Given the description of an element on the screen output the (x, y) to click on. 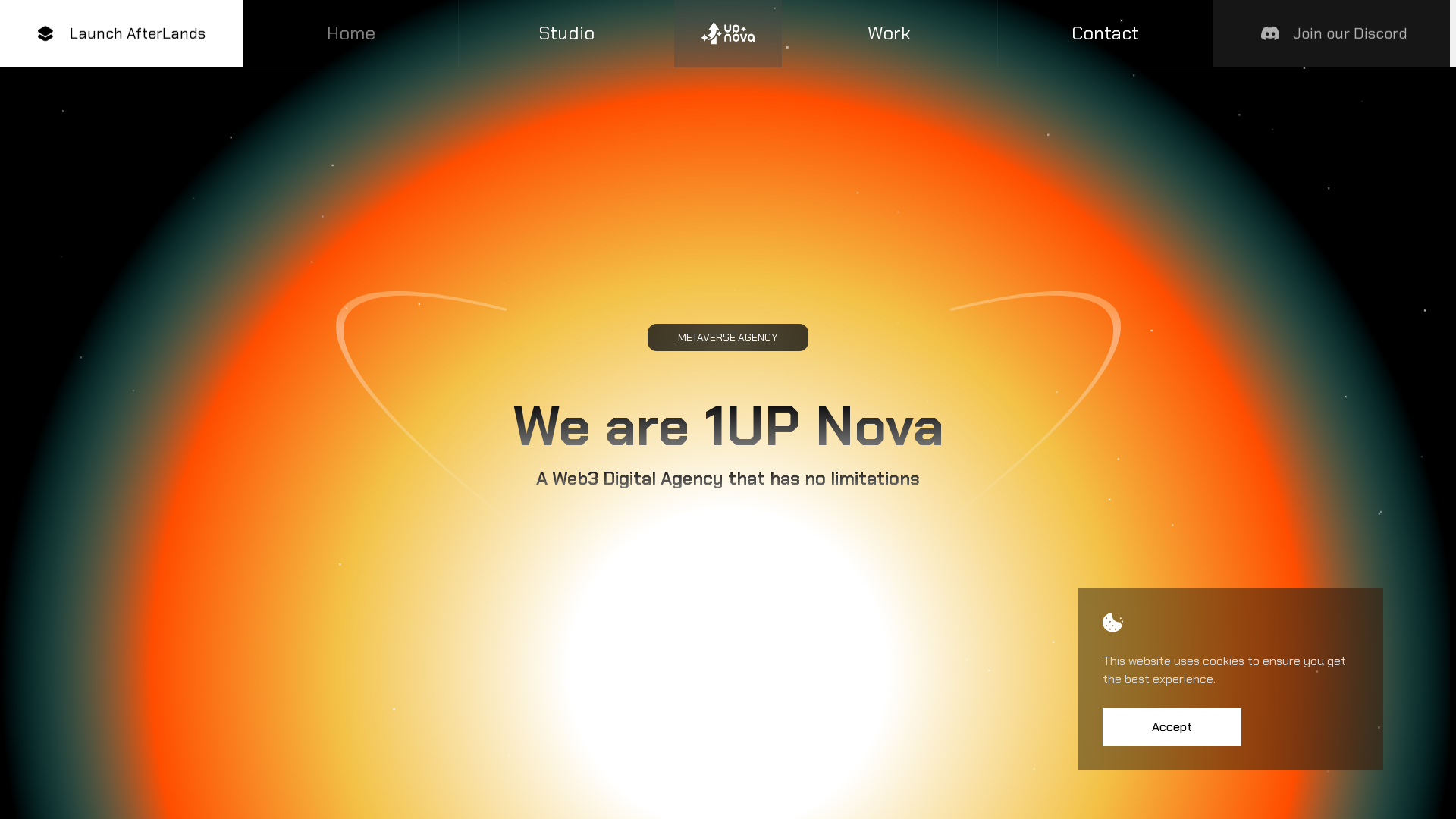
Accept Element type: text (1171, 727)
